Given the description of an element on the screen output the (x, y) to click on. 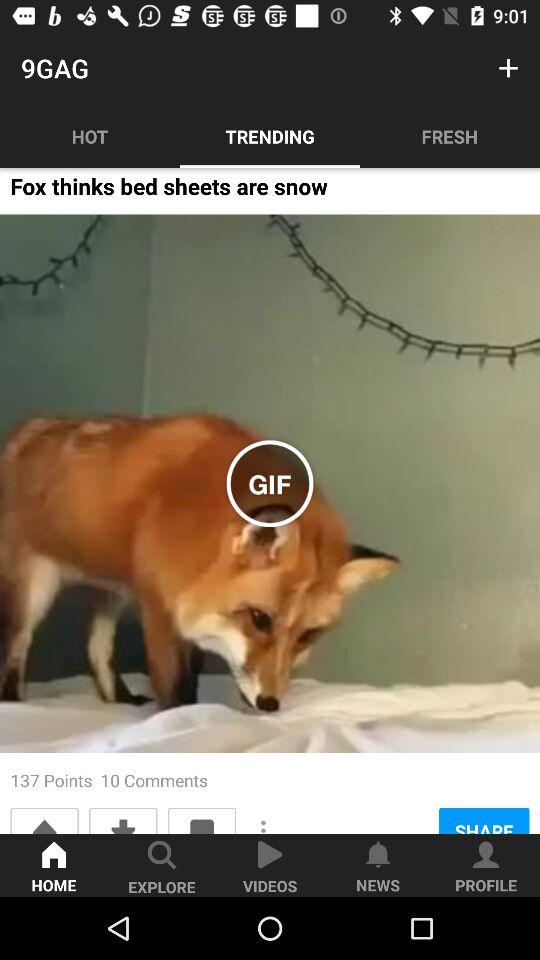
flip to the share icon (484, 820)
